Given the description of an element on the screen output the (x, y) to click on. 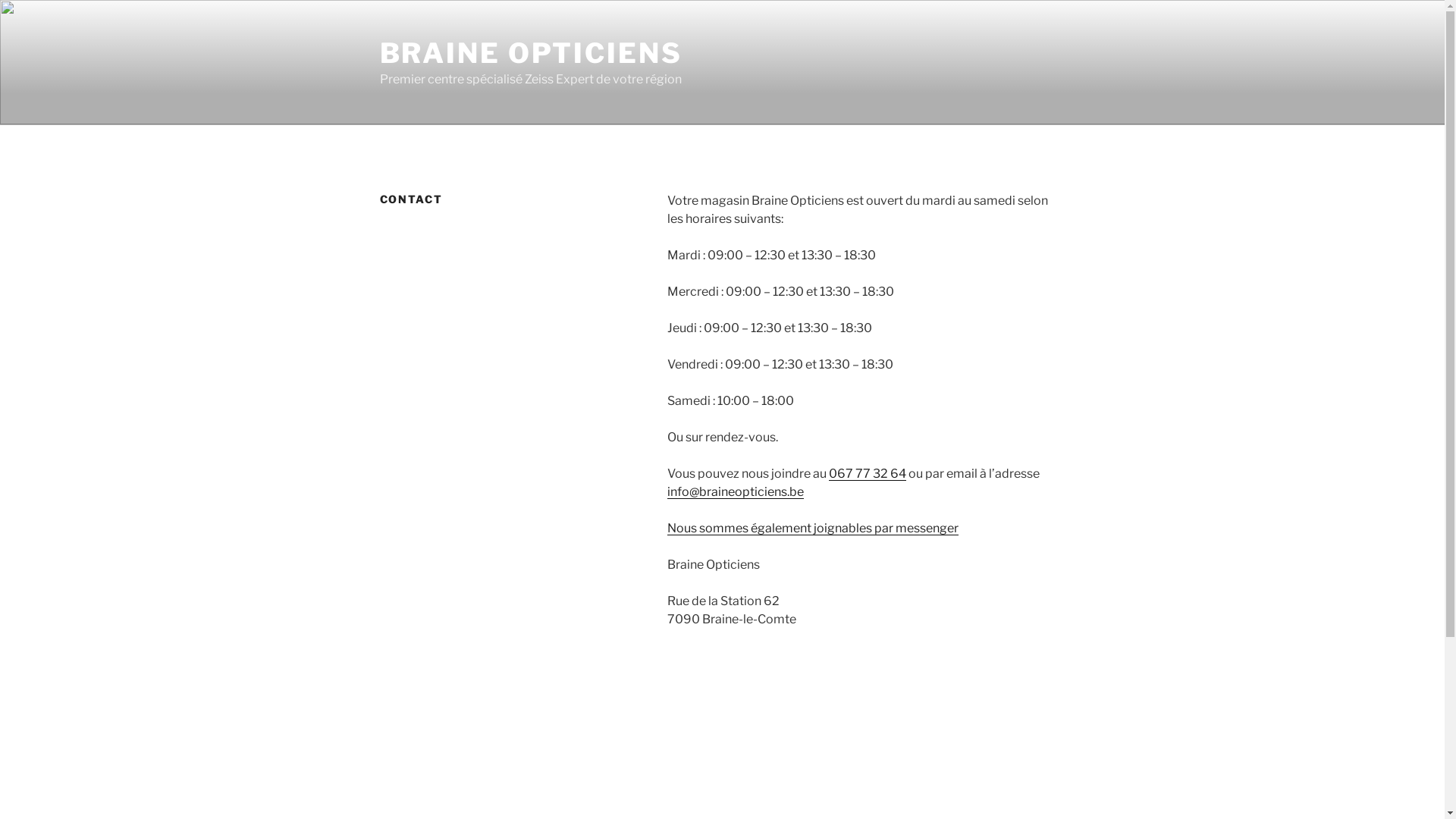
Aller au contenu principal Element type: text (0, 0)
BRAINE OPTICIENS Element type: text (530, 52)
info@braineopticiens.be Element type: text (735, 491)
067 77 32 64 Element type: text (867, 473)
